Given the description of an element on the screen output the (x, y) to click on. 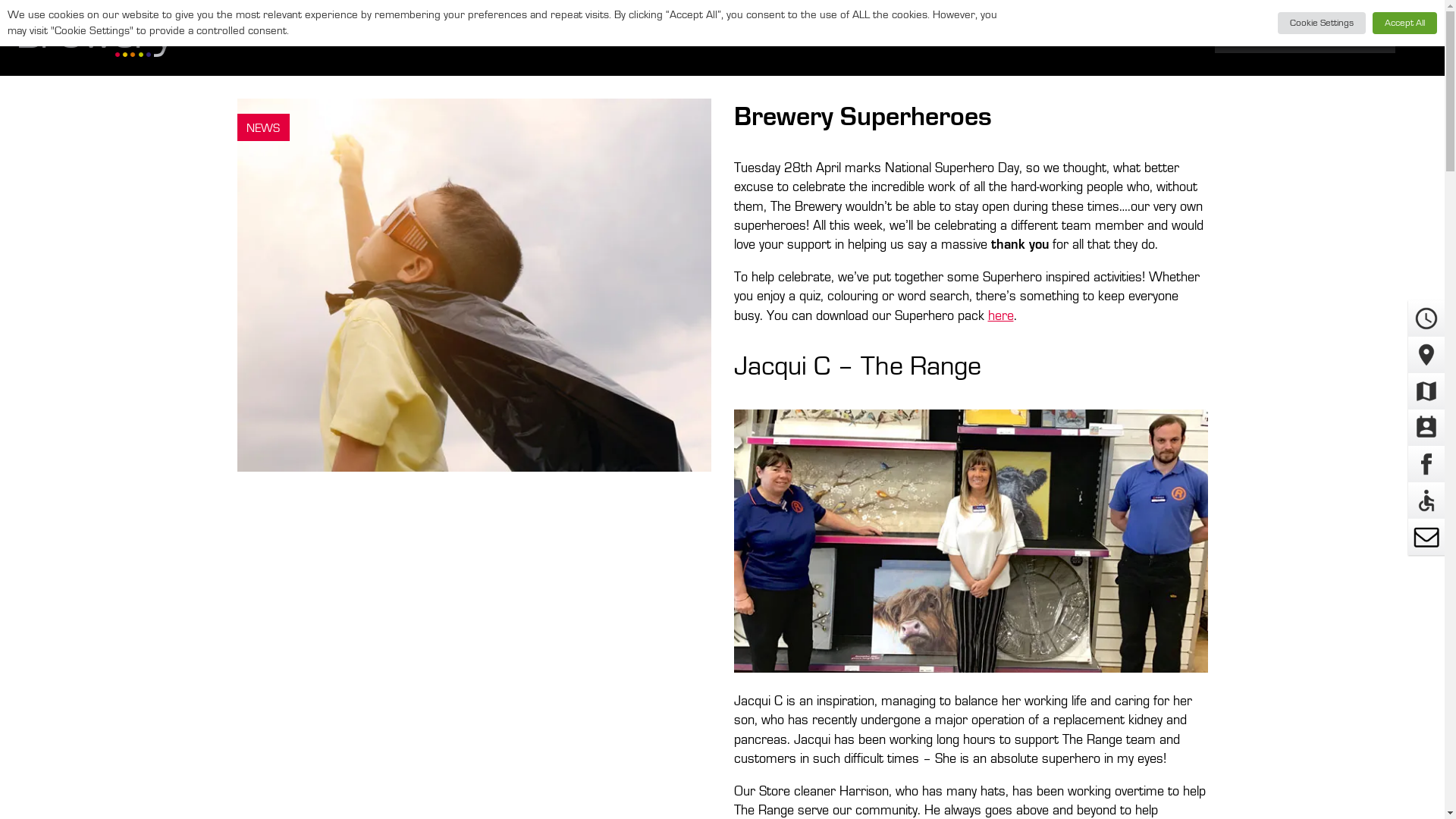
here (1000, 315)
PLAN YOUR VISIT (892, 37)
WALK ON THE WILD SIDE (714, 37)
VACANCIES (1029, 37)
Search (1409, 37)
Search (1409, 37)
CENTRE INFORMATION (520, 37)
CONTACT US (1152, 37)
